Given the description of an element on the screen output the (x, y) to click on. 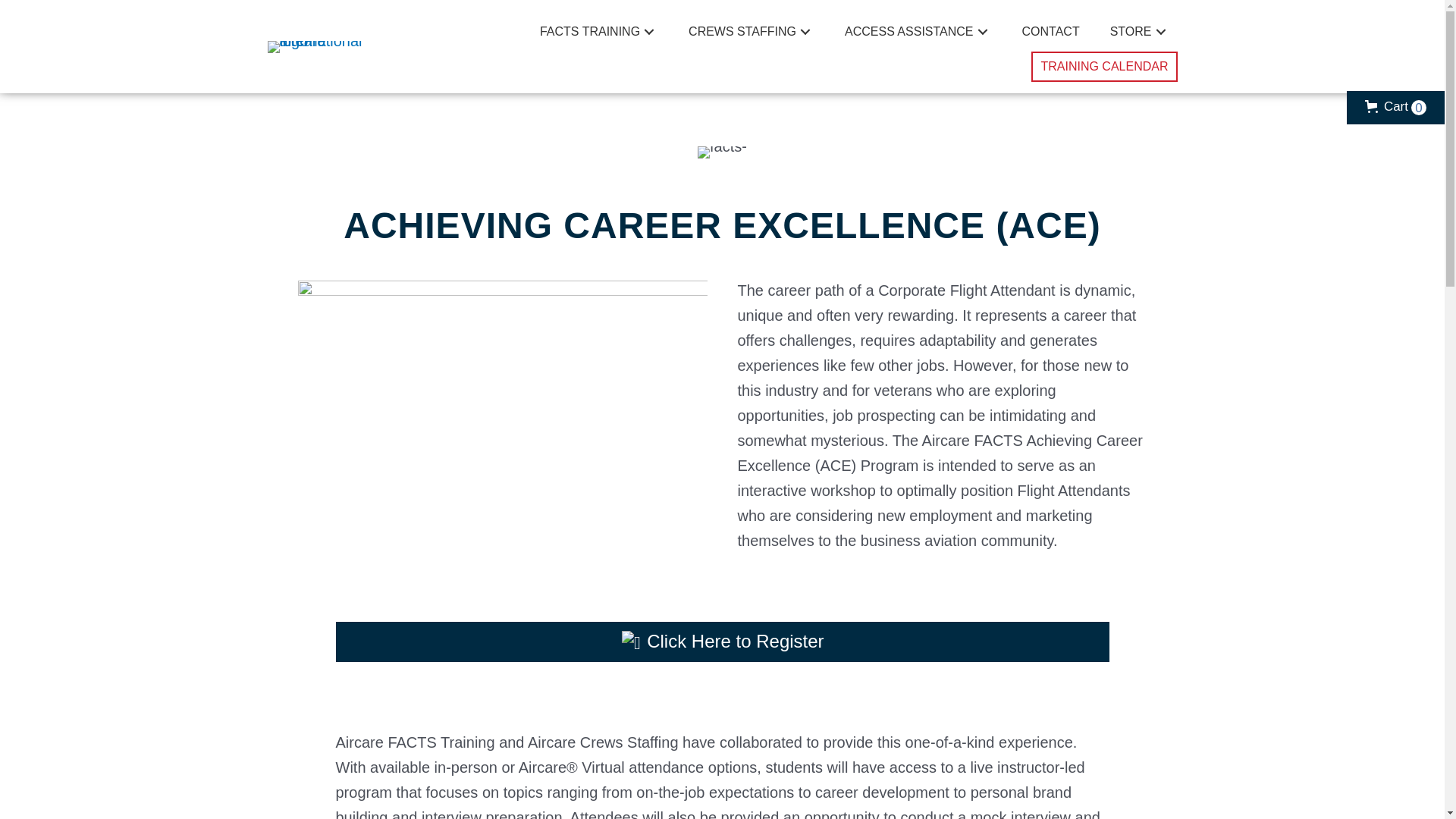
Click Here to Register (721, 641)
ACCESS ASSISTANCE (917, 31)
STORE (1139, 31)
CREWS STAFFING (751, 31)
facts- (721, 152)
TRAINING CALENDAR (1103, 66)
FACTS TRAINING (598, 31)
aircare international logo (325, 46)
CONTACT (1050, 31)
